Given the description of an element on the screen output the (x, y) to click on. 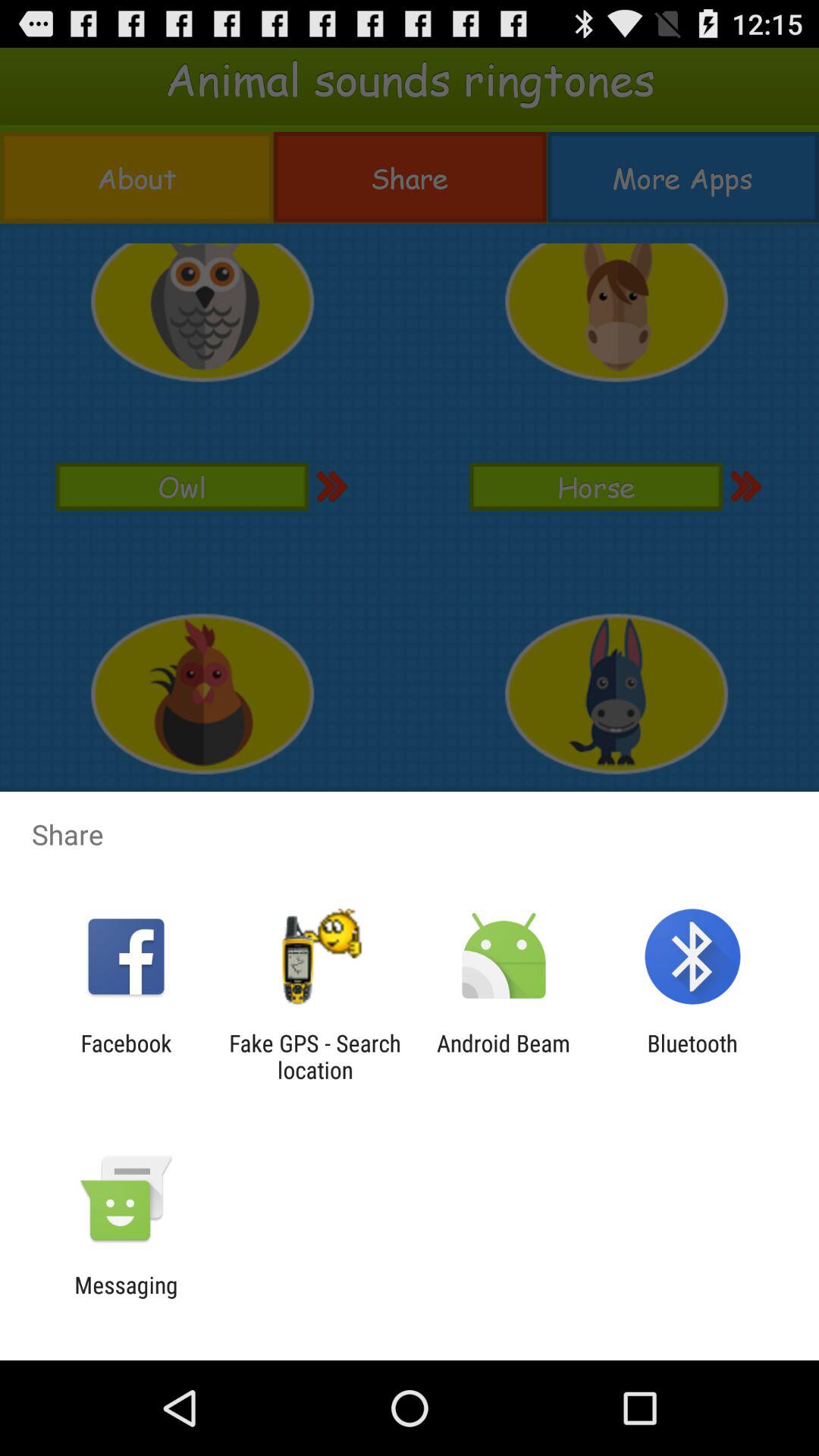
select the icon next to bluetooth icon (503, 1056)
